Given the description of an element on the screen output the (x, y) to click on. 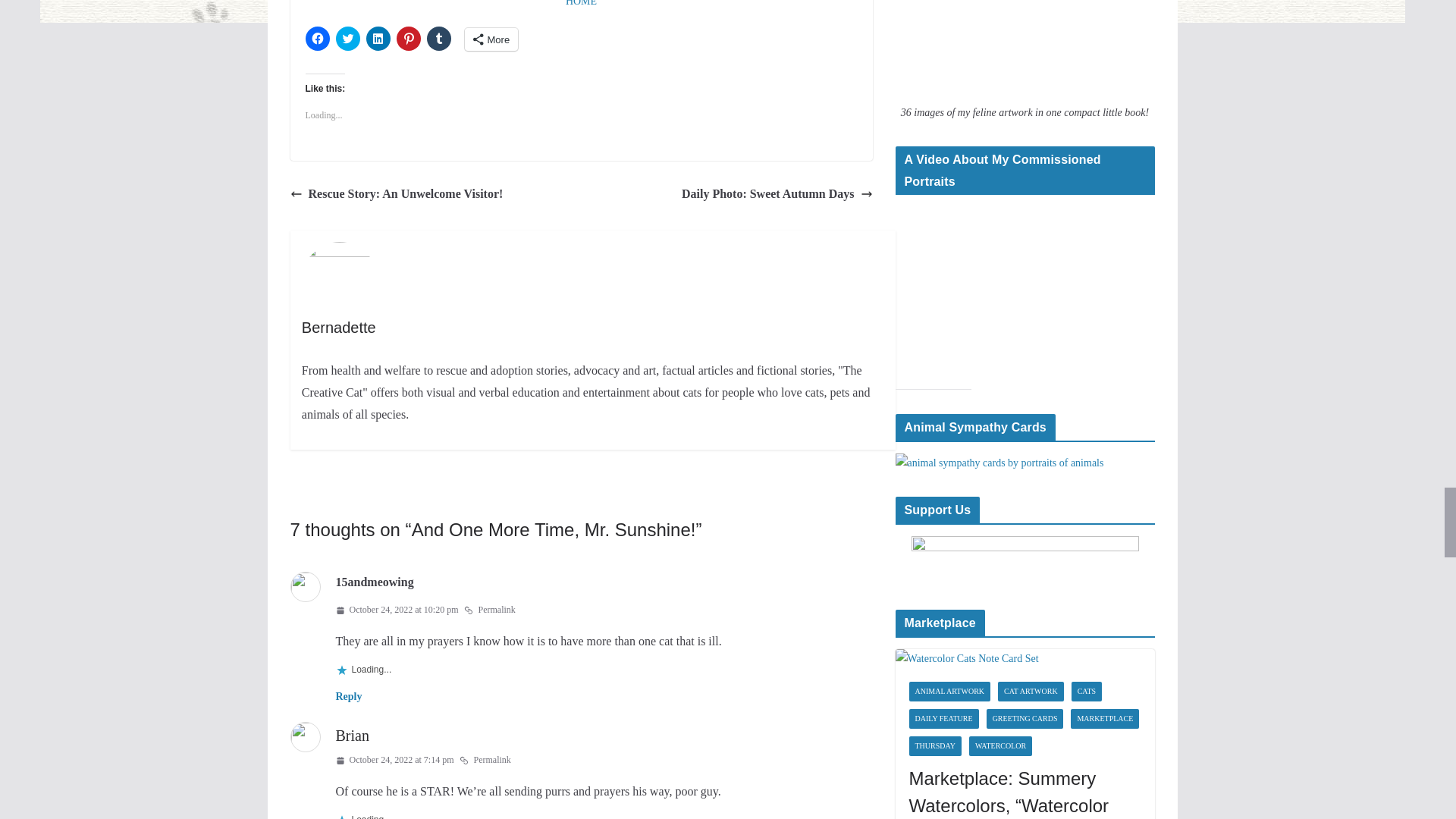
Click to share on Pinterest (408, 38)
Click to share on Facebook (316, 38)
Click to share on Twitter (346, 38)
Click to share on Tumblr (437, 38)
Click to share on LinkedIn (377, 38)
